Given the description of an element on the screen output the (x, y) to click on. 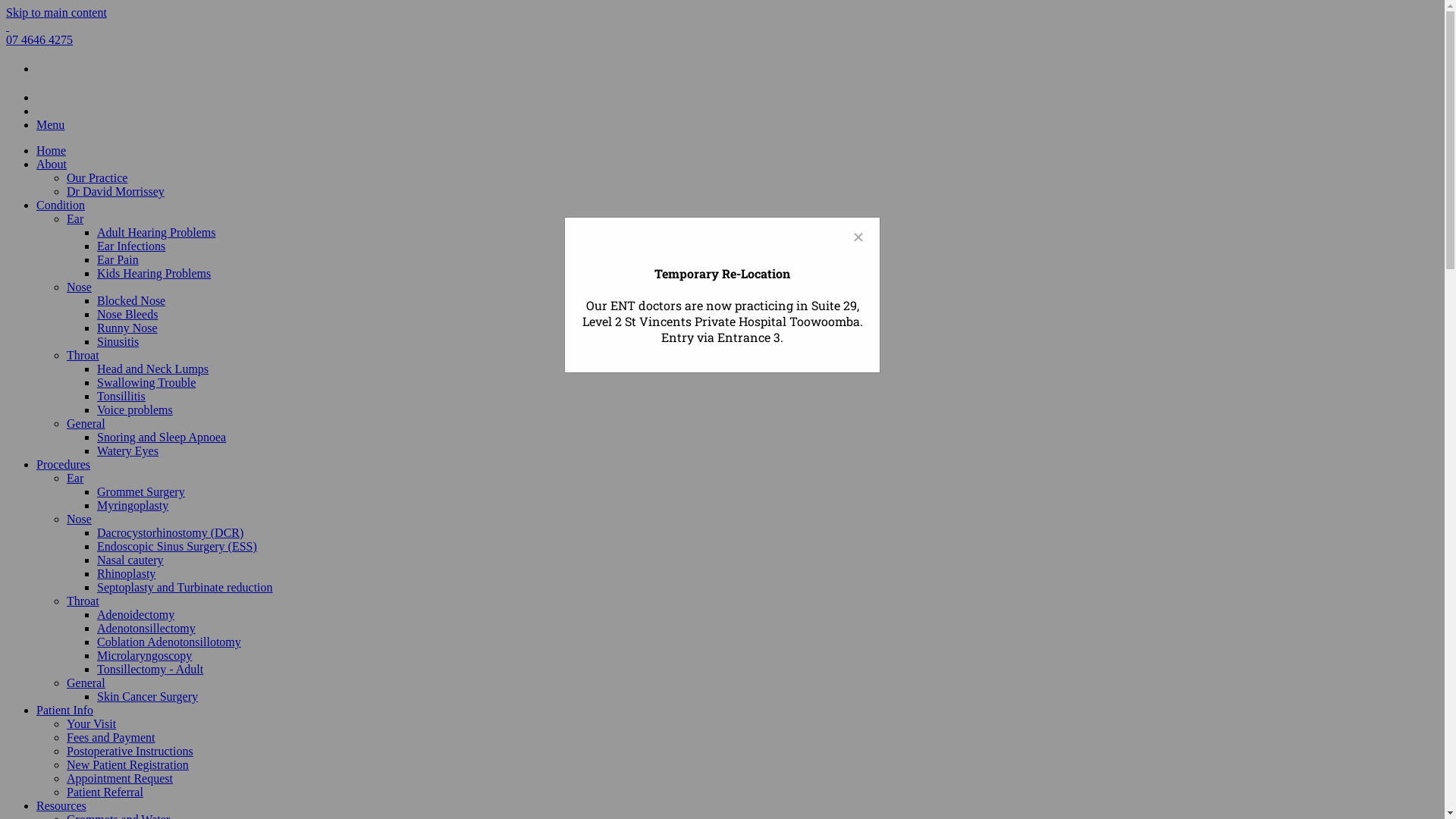
Resources Element type: text (61, 805)
Home Element type: text (50, 150)
Procedures Element type: text (63, 464)
Endoscopic Sinus Surgery (ESS) Element type: text (177, 545)
Nasal cautery Element type: text (130, 559)
Head and Neck Lumps Element type: text (152, 368)
Kids Hearing Problems Element type: text (153, 272)
Condition Element type: text (60, 204)
Ear Element type: text (74, 218)
Runny Nose Element type: text (127, 327)
Rhinoplasty Element type: text (126, 573)
Nose Element type: text (78, 286)
Ear Element type: text (74, 477)
Nose Bleeds Element type: text (127, 313)
Patient Info Element type: text (64, 709)
Coblation Adenotonsillotomy Element type: text (169, 641)
Throat Element type: text (82, 600)
Our Practice Element type: text (96, 177)
Skin Cancer Surgery Element type: text (147, 696)
Watery Eyes Element type: text (127, 450)
Microlaryngoscopy Element type: text (144, 655)
Skip to main content Element type: text (56, 12)
Ear Infections Element type: text (131, 245)
Nose Element type: text (78, 518)
Postoperative Instructions Element type: text (129, 750)
Septoplasty and Turbinate reduction Element type: text (185, 586)
Patient Referral Element type: text (104, 791)
Blocked Nose Element type: text (131, 300)
About Element type: text (51, 163)
General Element type: text (85, 423)
Dr David Morrissey Element type: text (115, 191)
Menu Element type: text (50, 124)
  Element type: text (7, 25)
Sinusitis Element type: text (117, 341)
Dacrocystorhinostomy (DCR) Element type: text (170, 532)
Grommet Surgery Element type: text (141, 491)
Your Visit Element type: text (91, 723)
07 4646 4275 Element type: text (39, 39)
Adenotonsillectomy Element type: text (146, 627)
Adenoidectomy Element type: text (135, 614)
Throat Element type: text (82, 354)
Snoring and Sleep Apnoea Element type: text (161, 436)
Myringoplasty Element type: text (132, 504)
Tonsillitis Element type: text (121, 395)
New Patient Registration Element type: text (127, 764)
Fees and Payment Element type: text (110, 737)
Ear Pain Element type: text (117, 259)
Voice problems Element type: text (134, 409)
Adult Hearing Problems Element type: text (156, 231)
Appointment Request Element type: text (119, 777)
General Element type: text (85, 682)
Swallowing Trouble Element type: text (146, 382)
Tonsillectomy - Adult Element type: text (150, 668)
